Given the description of an element on the screen output the (x, y) to click on. 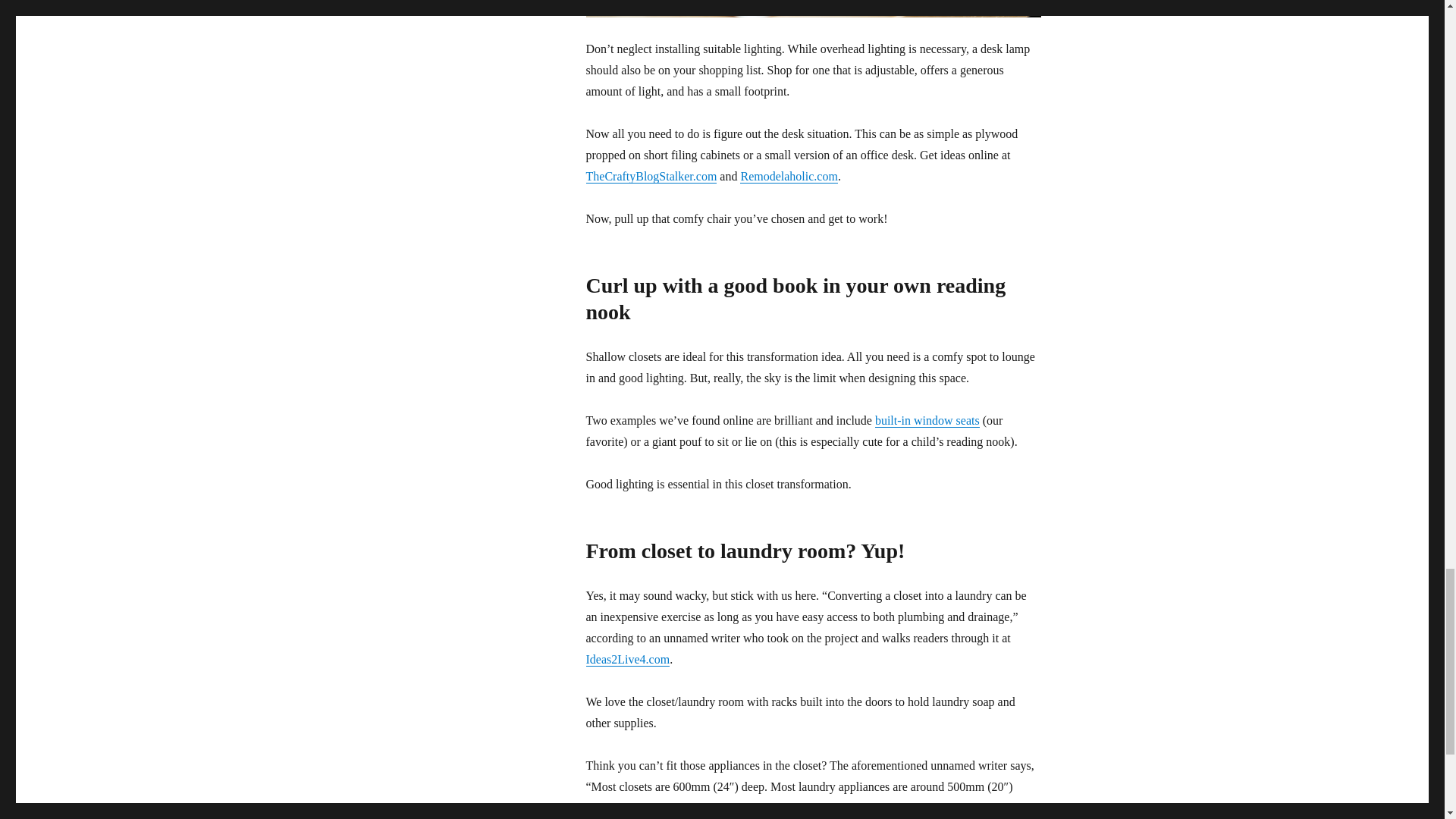
Remodelaholic.com (788, 175)
TheCraftyBlogStalker.com (650, 175)
Ideas2Live4.com (627, 658)
built-in window seats (927, 420)
